Given the description of an element on the screen output the (x, y) to click on. 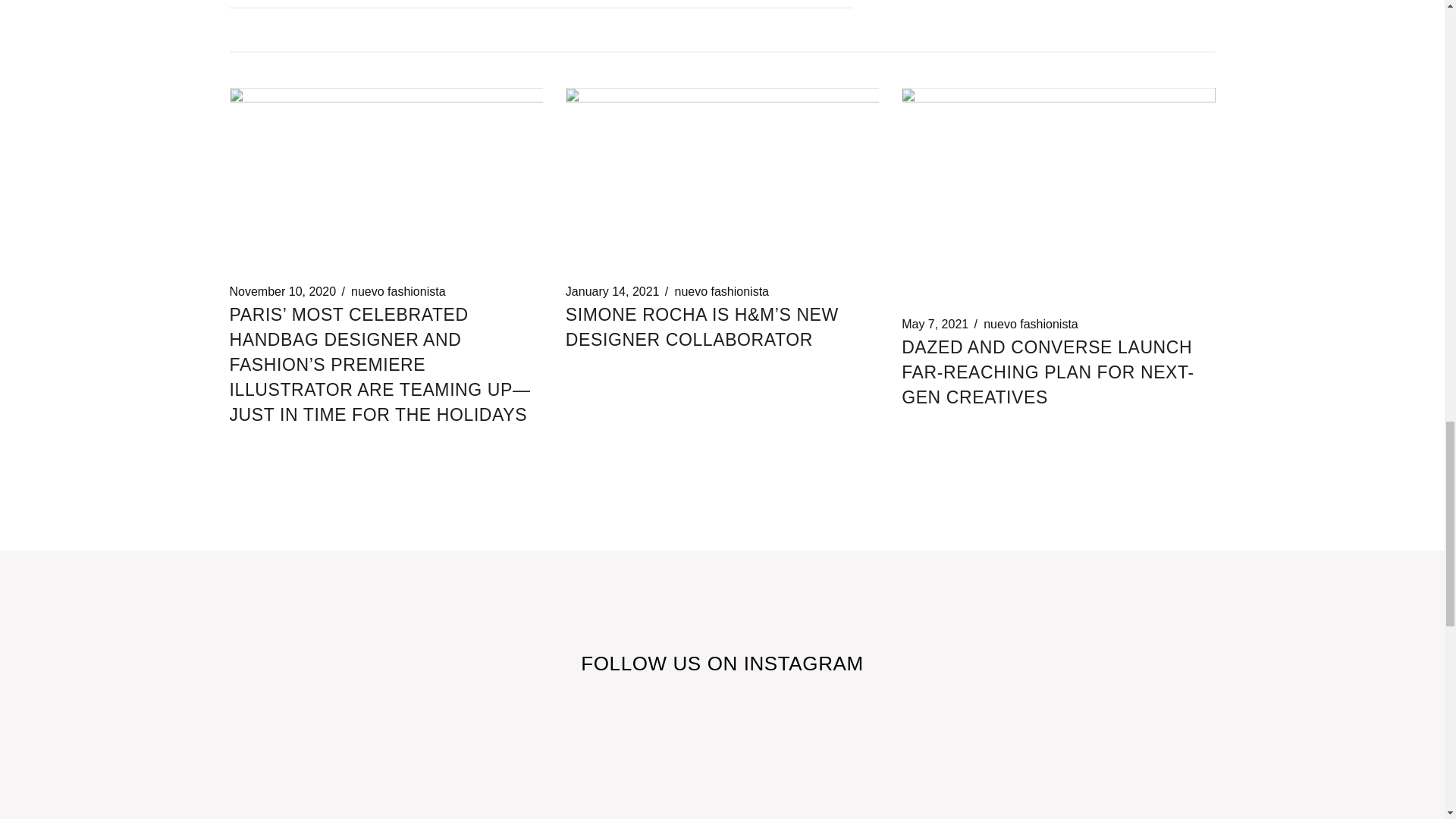
nuevo fashionista (1031, 324)
nuevo fashionista (397, 291)
nuevo fashionista (721, 291)
January 14, 2021 (612, 291)
May 7, 2021 (934, 324)
FOLLOW US ON  (661, 662)
November 10, 2020 (282, 291)
